Given the description of an element on the screen output the (x, y) to click on. 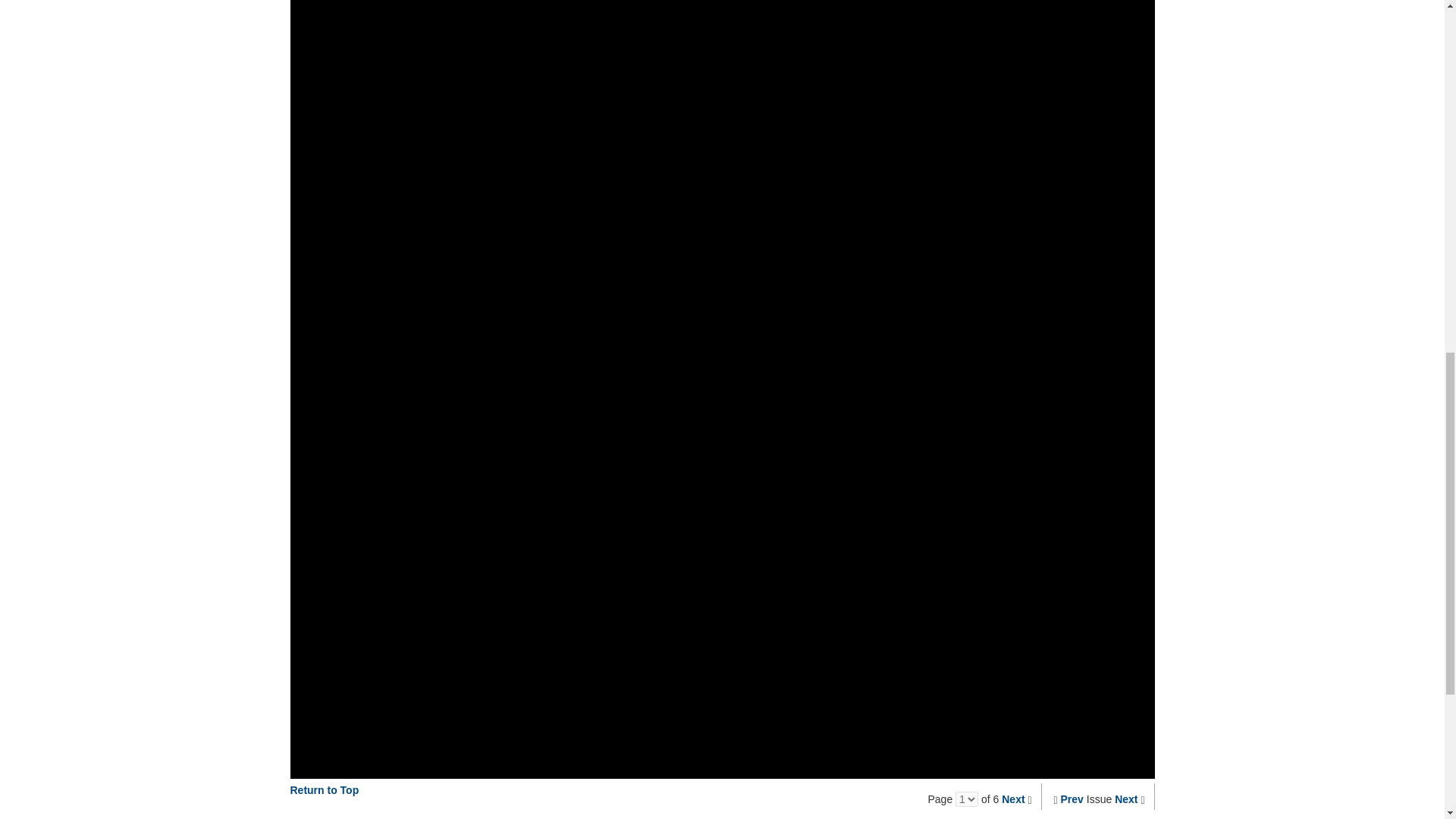
Return to Top (323, 789)
Next (1013, 799)
Next (1126, 799)
Prev (1072, 799)
